Given the description of an element on the screen output the (x, y) to click on. 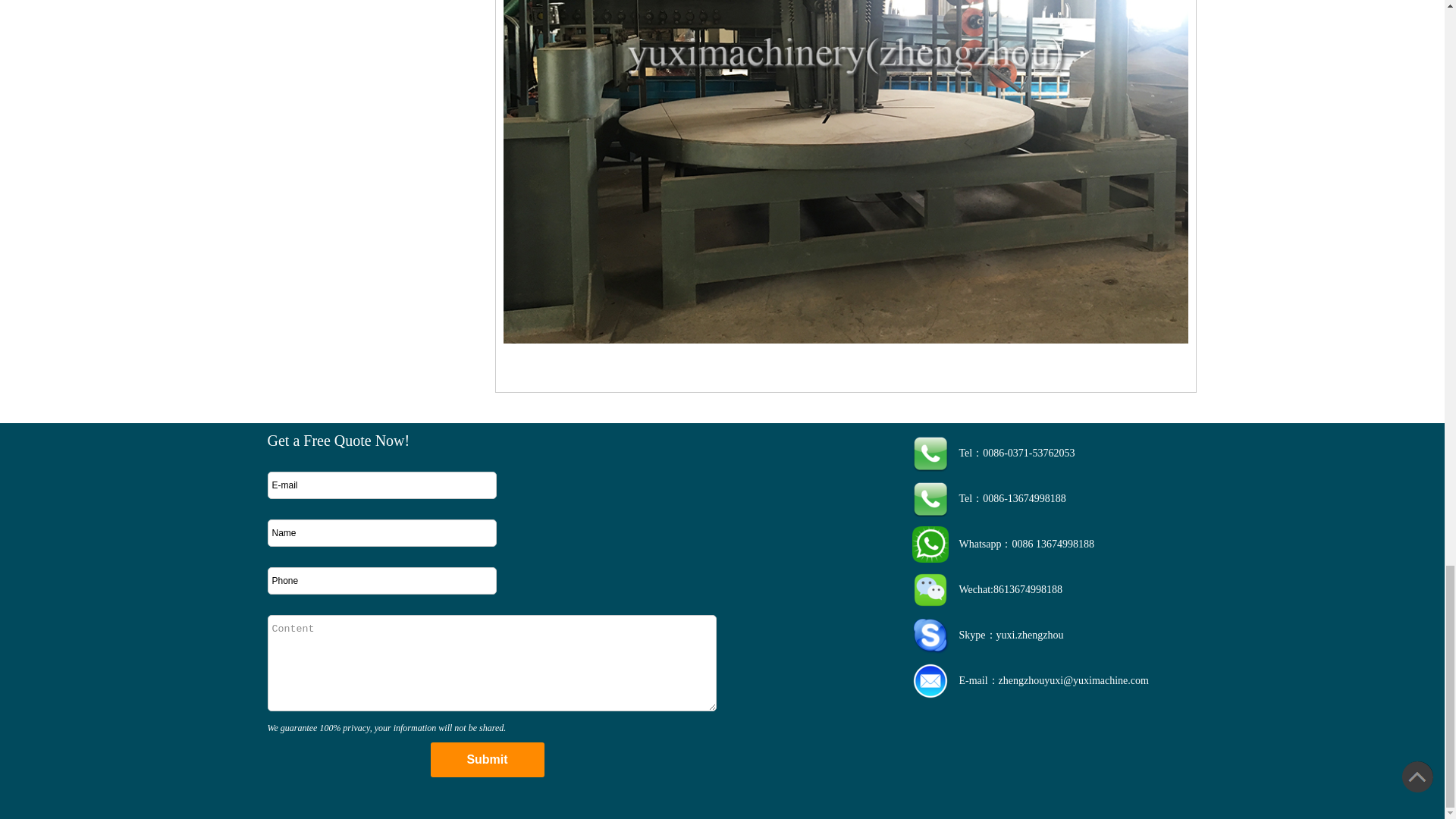
E-mail (381, 484)
Phone (381, 580)
Submit (487, 759)
Name (381, 533)
